Given the description of an element on the screen output the (x, y) to click on. 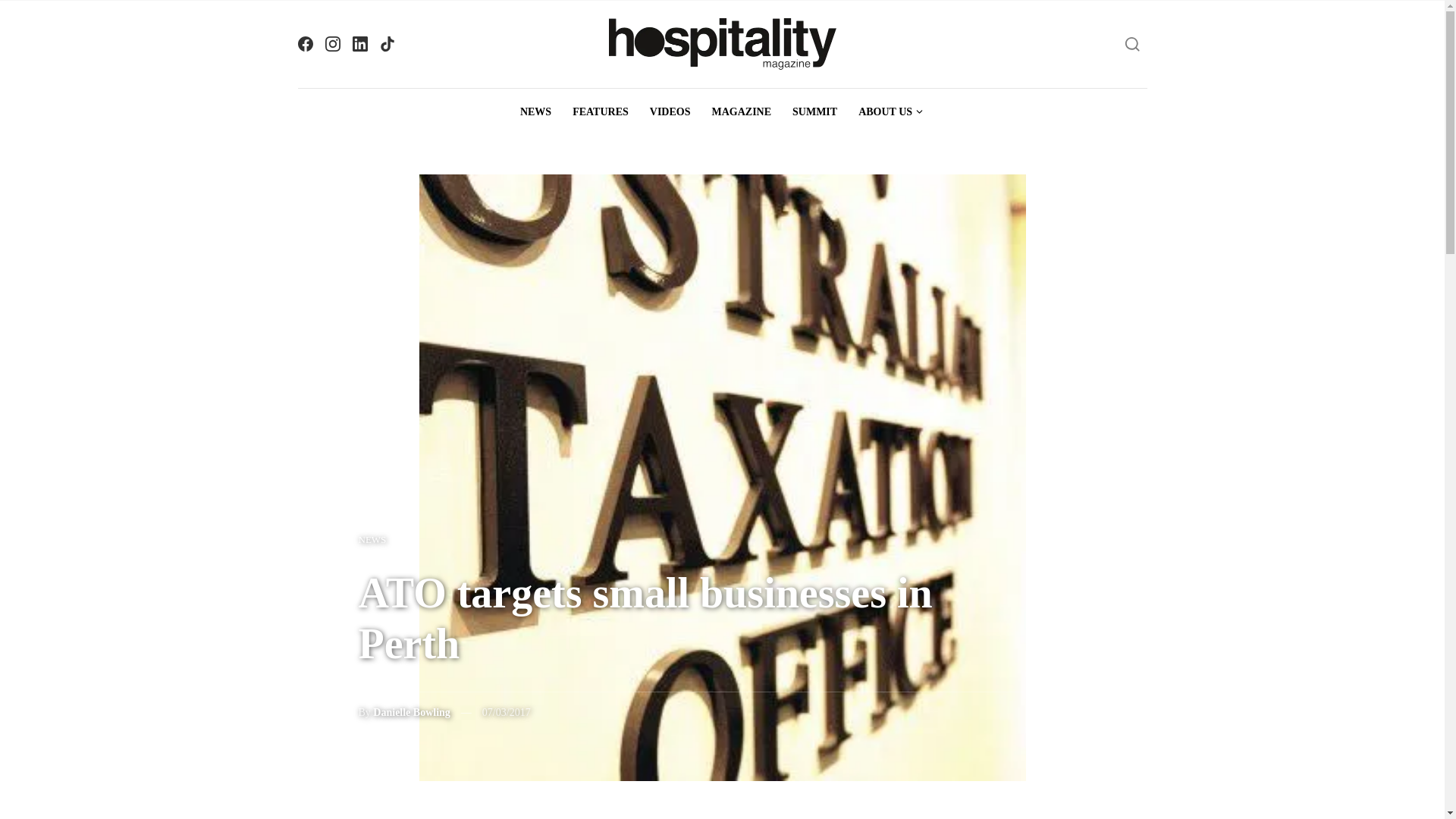
Danielle Bowling (410, 712)
NEWS (535, 111)
NEWS (372, 539)
View all posts in News (372, 539)
FEATURES (600, 111)
VIDEOS (670, 111)
SUMMIT (814, 111)
MAGAZINE (740, 111)
ABOUT US (890, 111)
